Given the description of an element on the screen output the (x, y) to click on. 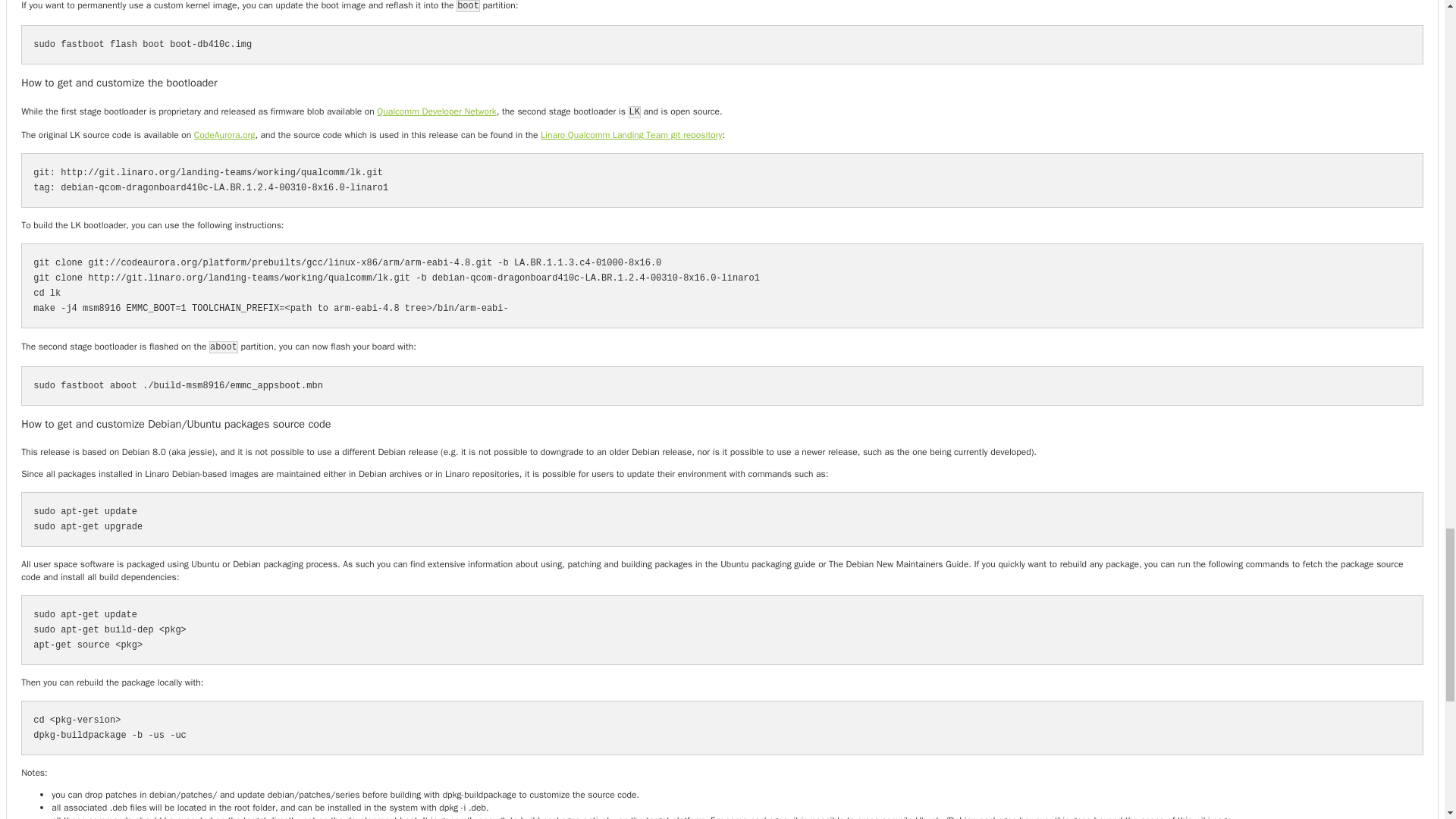
Qualcomm Developer Network (436, 111)
CodeAurora.org (224, 134)
Linaro Qualcomm Landing Team git repository (631, 134)
